Given the description of an element on the screen output the (x, y) to click on. 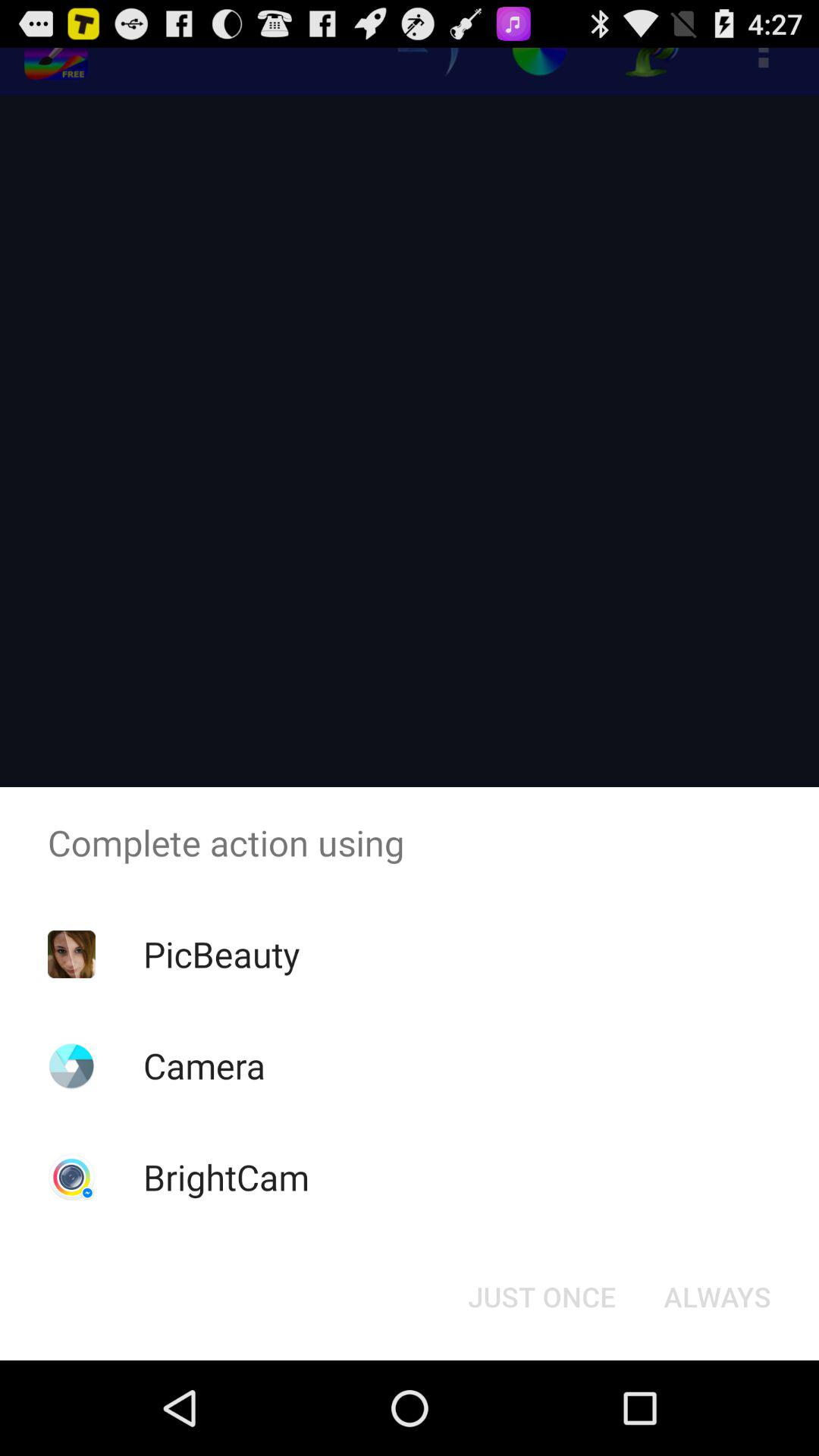
launch brightcam app (226, 1176)
